Given the description of an element on the screen output the (x, y) to click on. 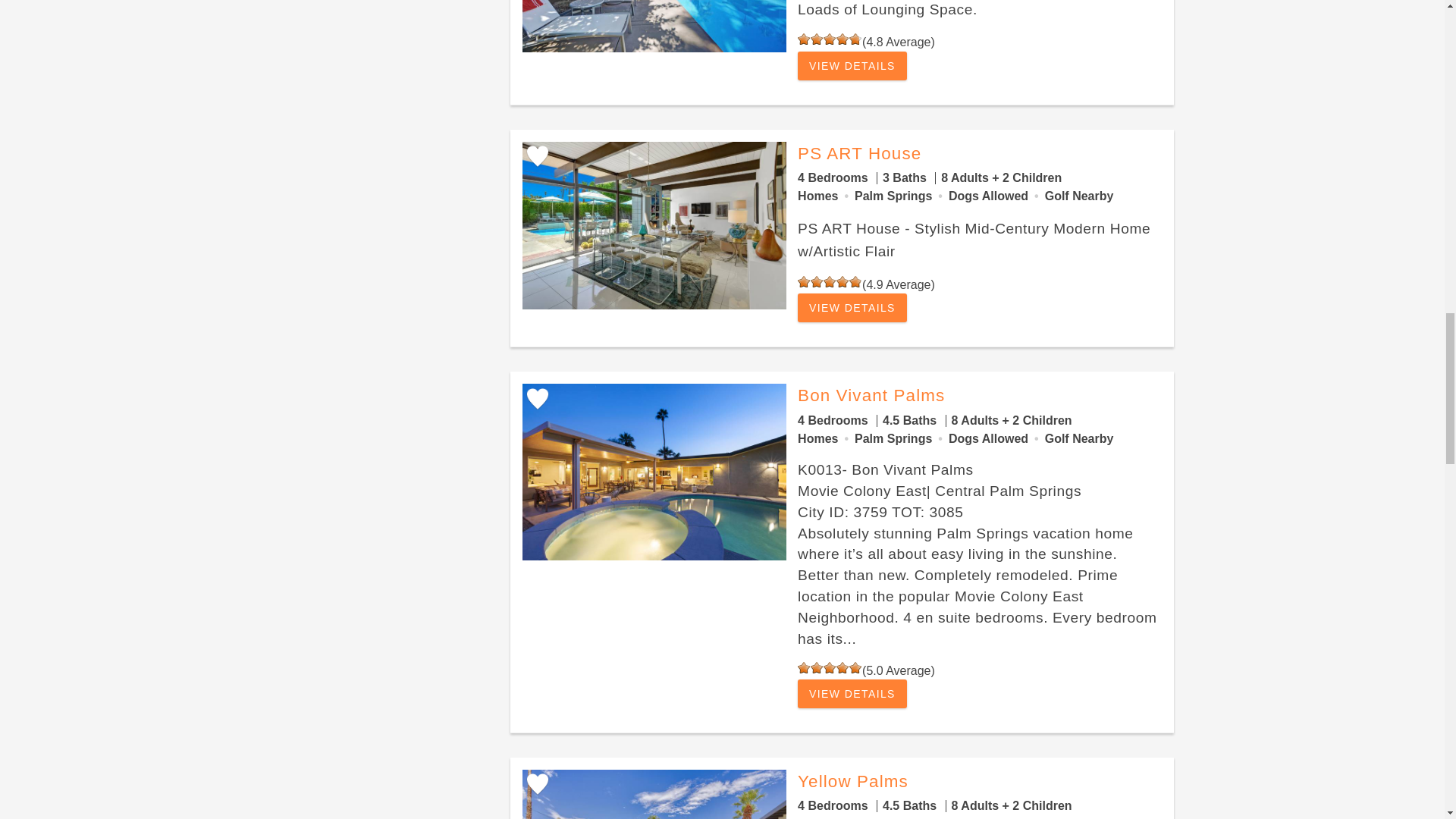
 Add Favorite (536, 156)
 Add Favorite (536, 784)
 Add Favorite (536, 399)
